Given the description of an element on the screen output the (x, y) to click on. 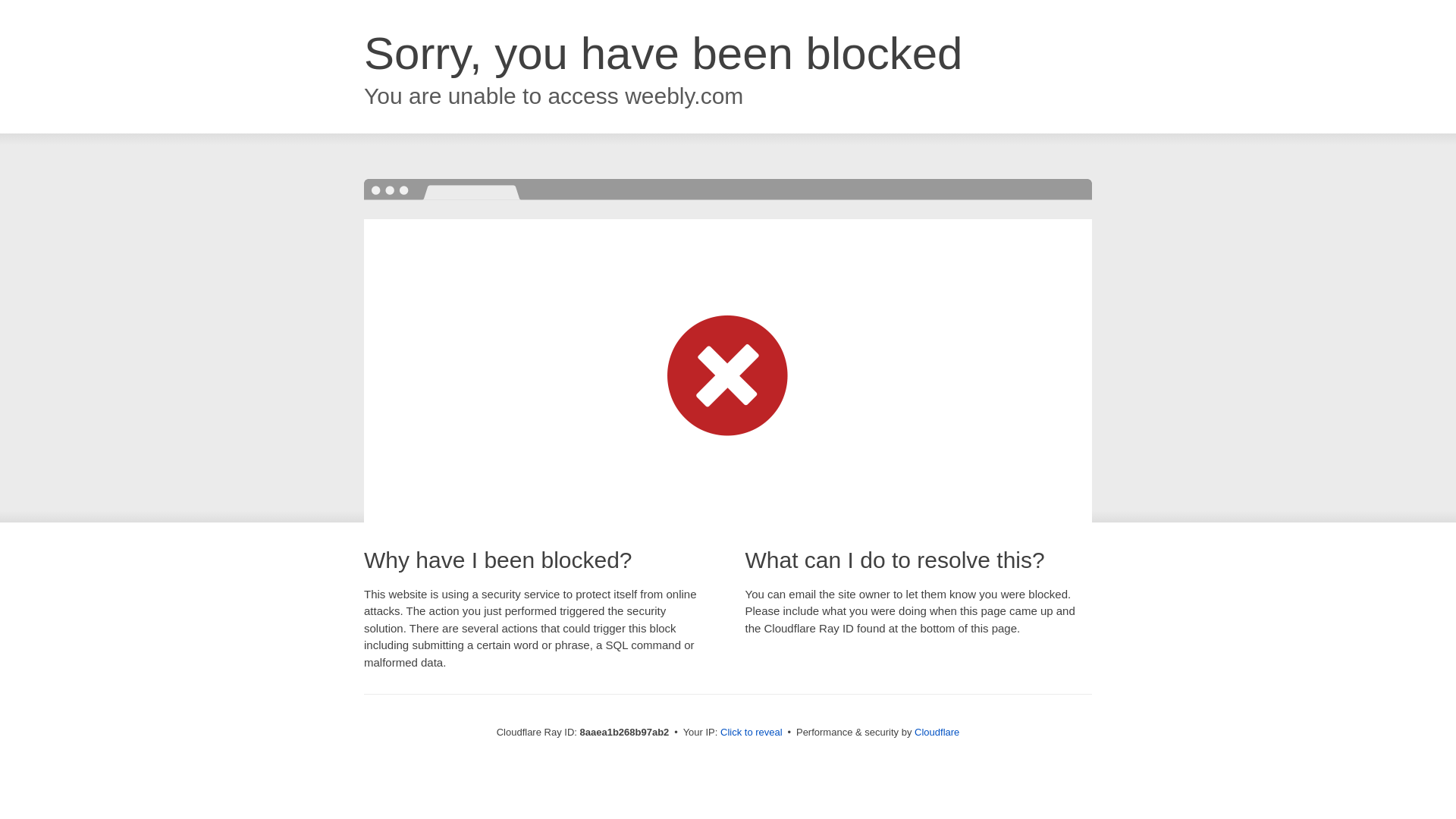
Click to reveal (751, 732)
Cloudflare (936, 731)
